Given the description of an element on the screen output the (x, y) to click on. 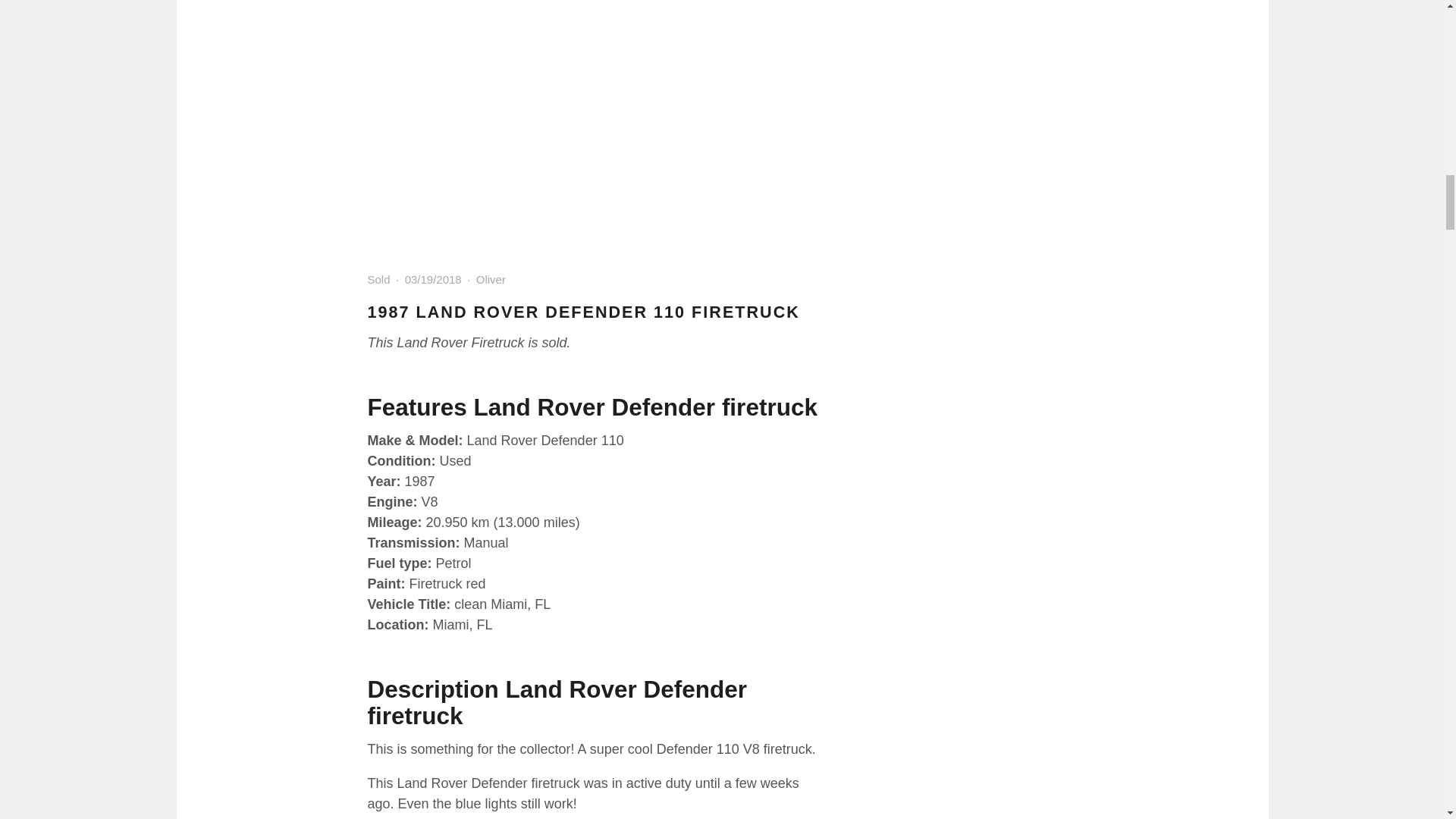
1987 LAND ROVER DEFENDER 110 FIRETRUCK (582, 311)
Oliver (490, 278)
Sold (378, 278)
